Given the description of an element on the screen output the (x, y) to click on. 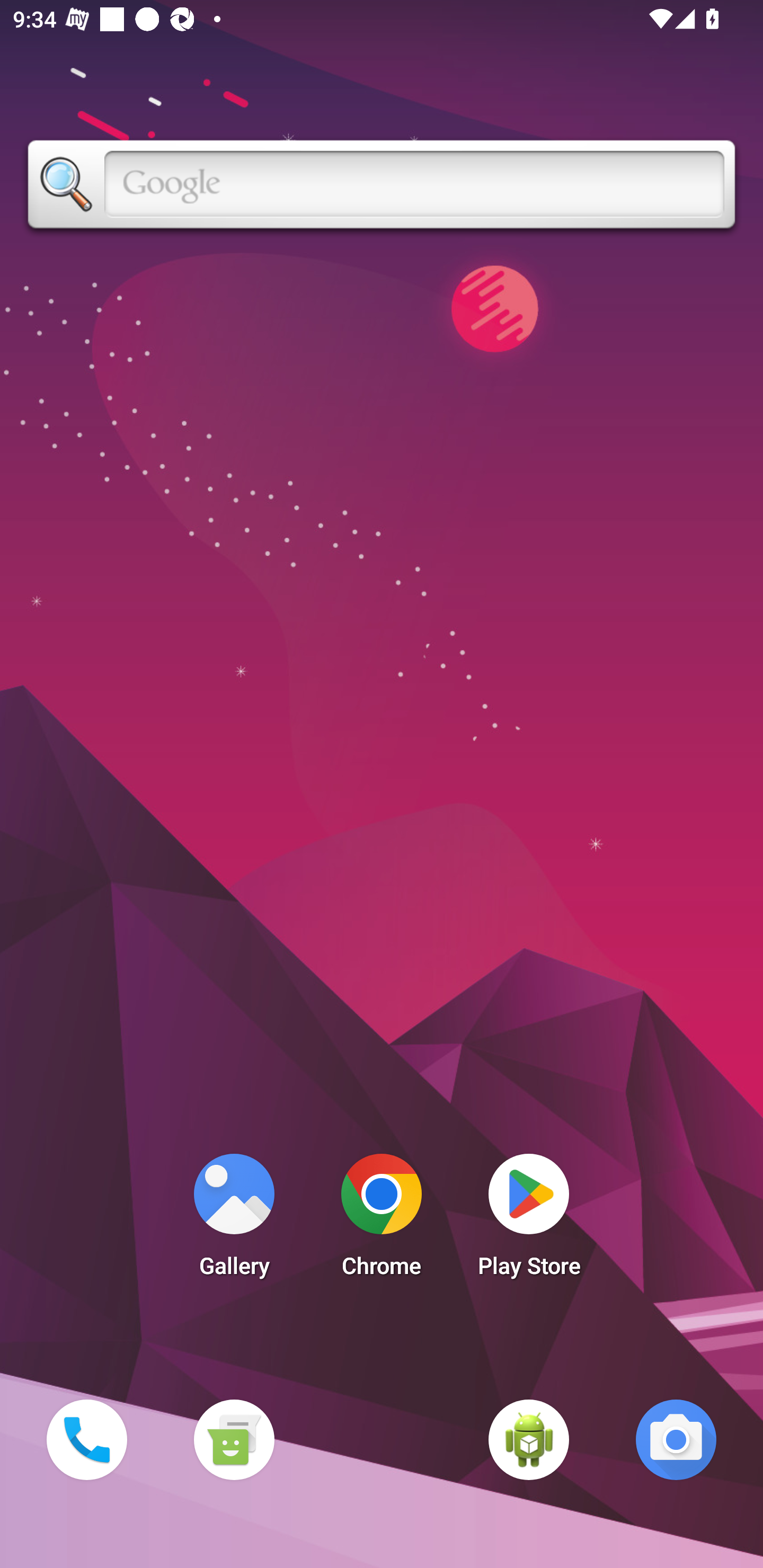
Gallery (233, 1220)
Chrome (381, 1220)
Play Store (528, 1220)
Phone (86, 1439)
Messaging (233, 1439)
WebView Browser Tester (528, 1439)
Camera (676, 1439)
